Given the description of an element on the screen output the (x, y) to click on. 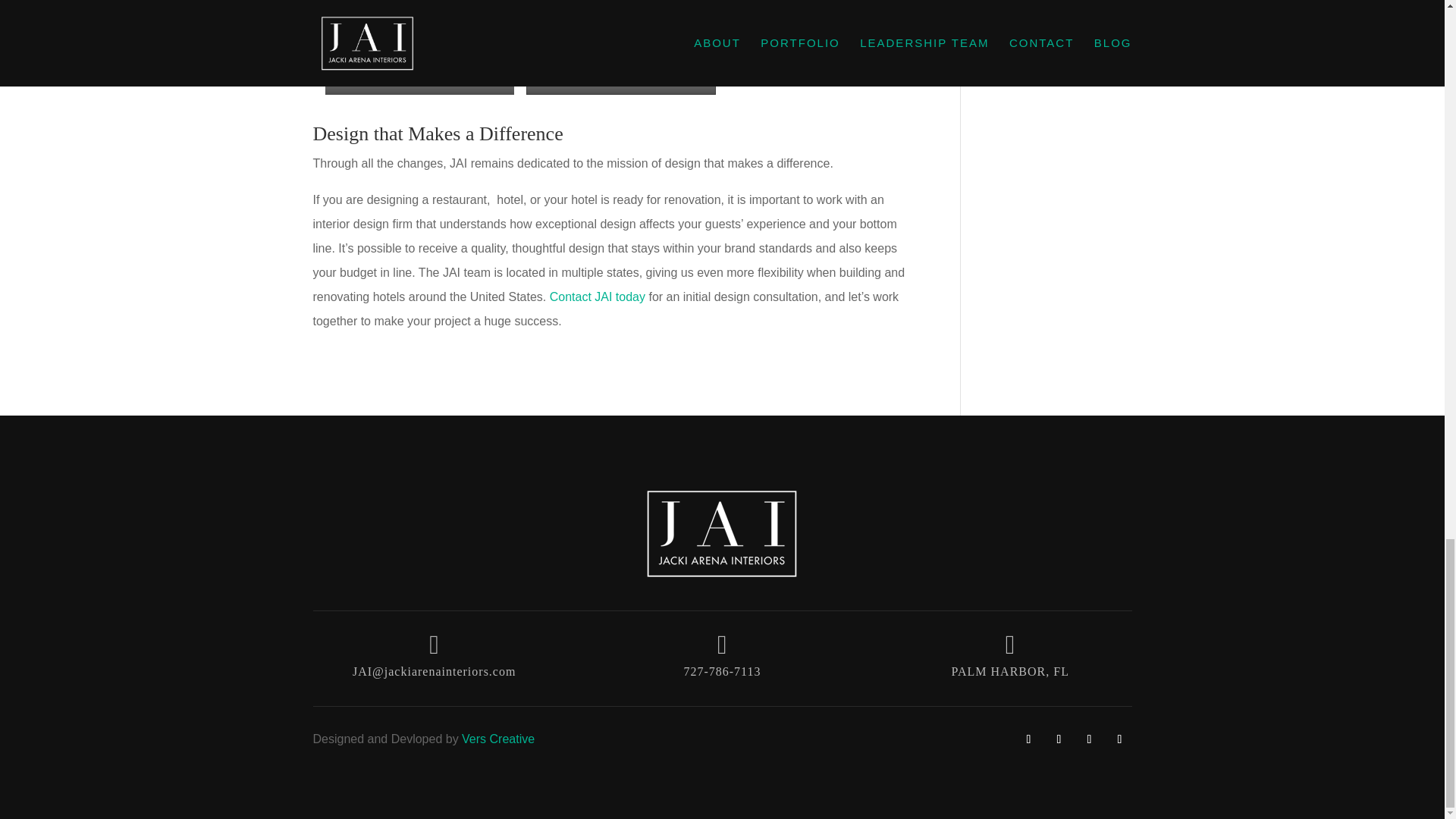
Follow on Facebook (1028, 739)
Follow on Twitter (1058, 739)
Follow on LinkedIn (1118, 739)
Contact JAI today (595, 296)
Vers Creative (497, 738)
